Given the description of an element on the screen output the (x, y) to click on. 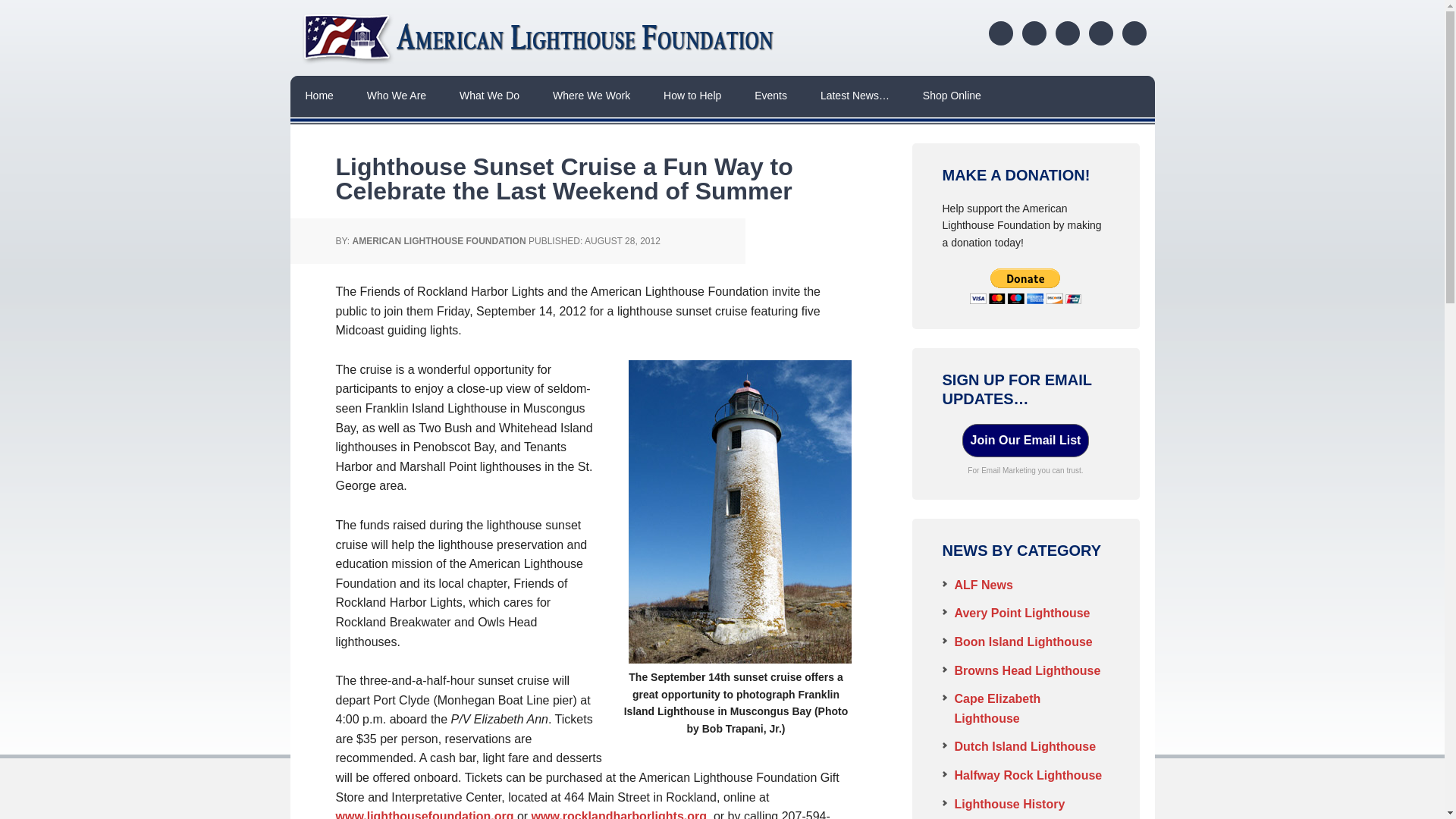
Events (770, 96)
What We Do (489, 96)
How to Help (691, 96)
American Lighthouse Foundation (539, 38)
Shop Online (951, 96)
Who We Are (396, 96)
www.rocklandharborlights.org (618, 814)
Where We Work (591, 96)
AMERICAN LIGHTHOUSE FOUNDATION (438, 240)
Home (318, 96)
www.lighthousefoundation.org (423, 814)
